Given the description of an element on the screen output the (x, y) to click on. 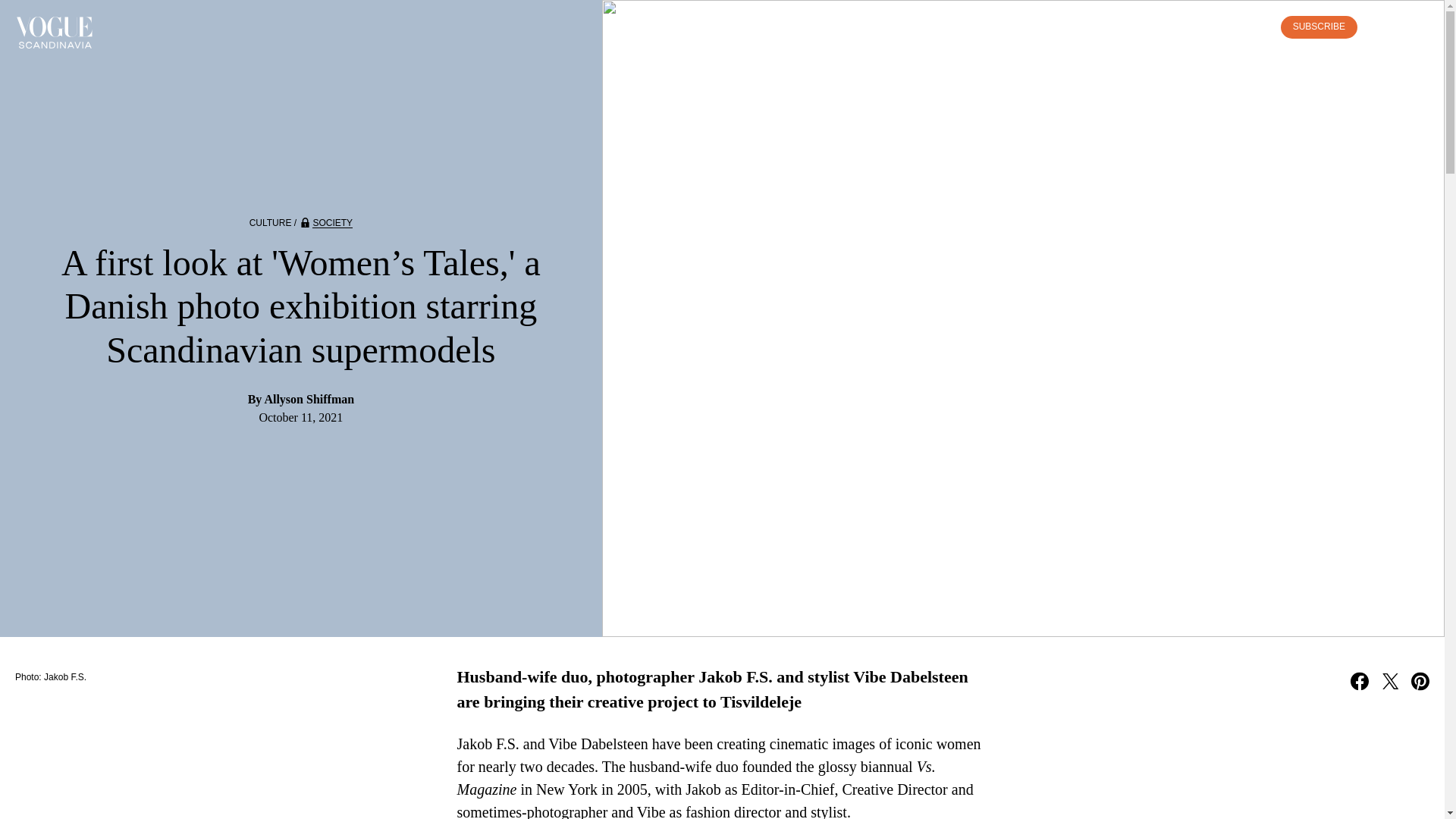
By Allyson Shiffman (301, 398)
LOGIN (1247, 26)
SUBSCRIBE (1318, 26)
